Given the description of an element on the screen output the (x, y) to click on. 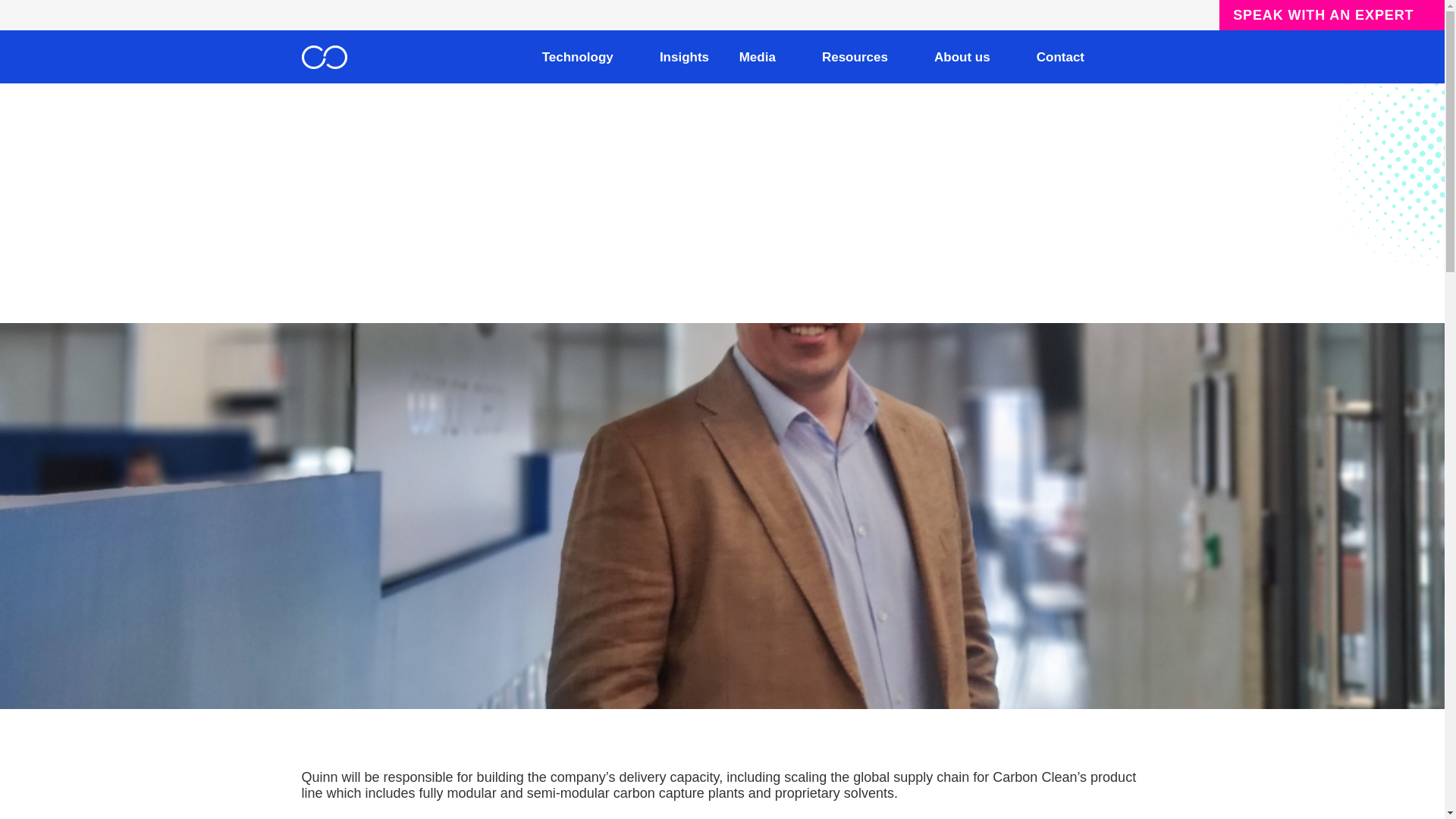
Media (765, 56)
Technology (586, 56)
Insights (684, 56)
Resources (863, 56)
About us (970, 56)
Contact (1068, 56)
